Given the description of an element on the screen output the (x, y) to click on. 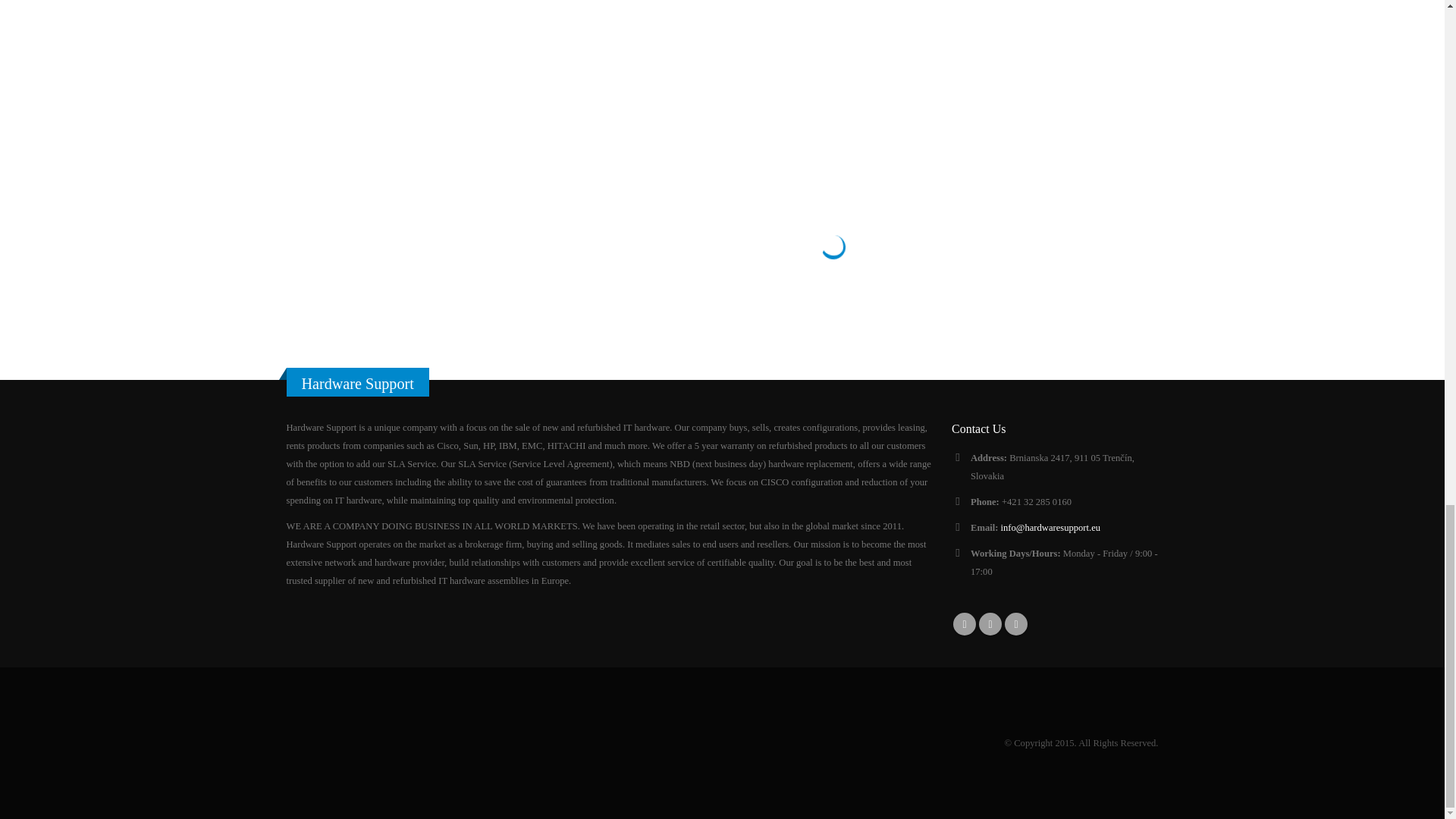
Facebook (964, 623)
Linkedin (989, 623)
Facebook (964, 623)
Linkedin (989, 623)
